Given the description of an element on the screen output the (x, y) to click on. 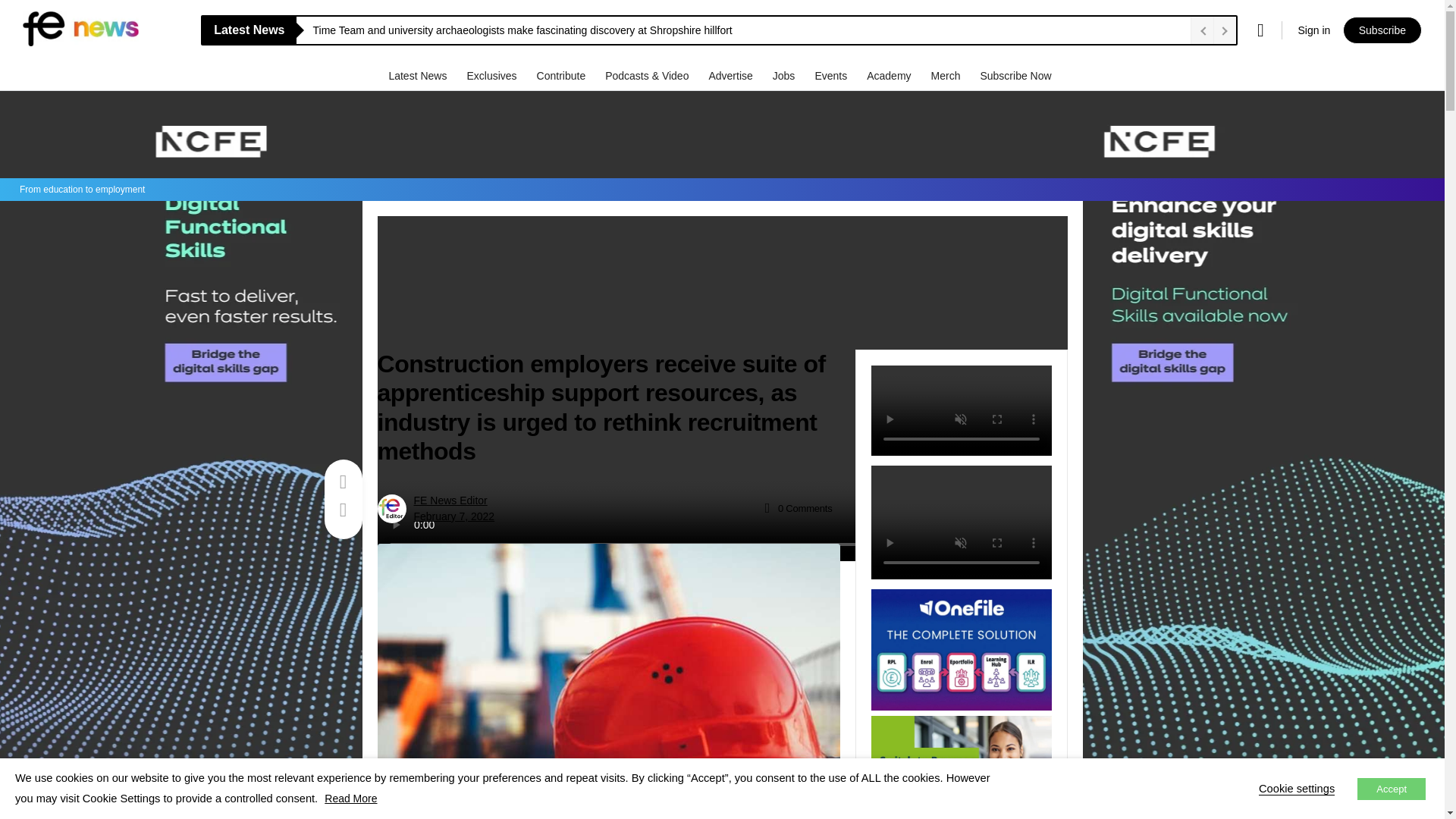
Sign in (1313, 30)
Subscribe (1382, 30)
Exclusives (493, 75)
Latest News (419, 75)
